Given the description of an element on the screen output the (x, y) to click on. 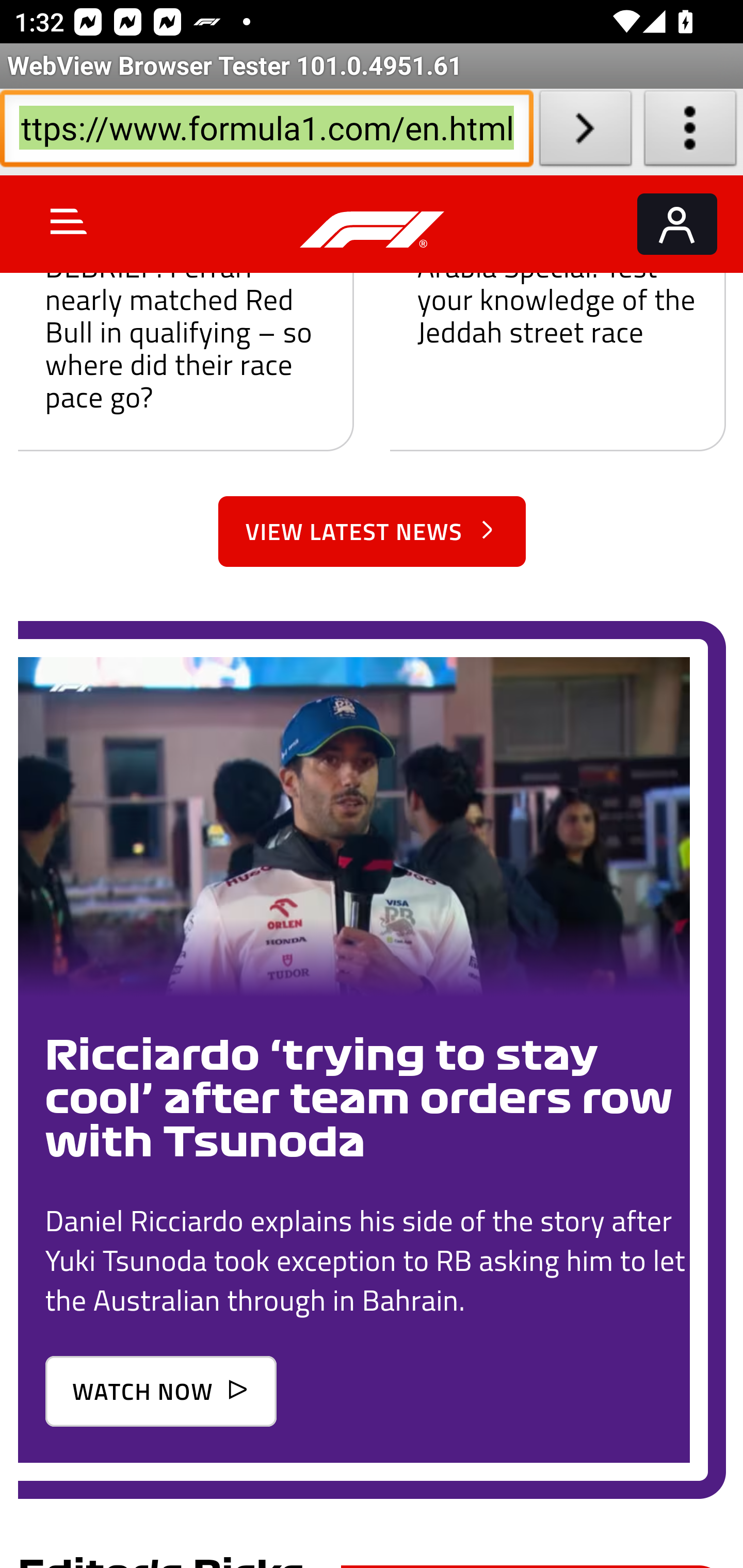
https://www.formula1.com/en.html (266, 132)
Load URL (585, 132)
About WebView (690, 132)
